Given the description of an element on the screen output the (x, y) to click on. 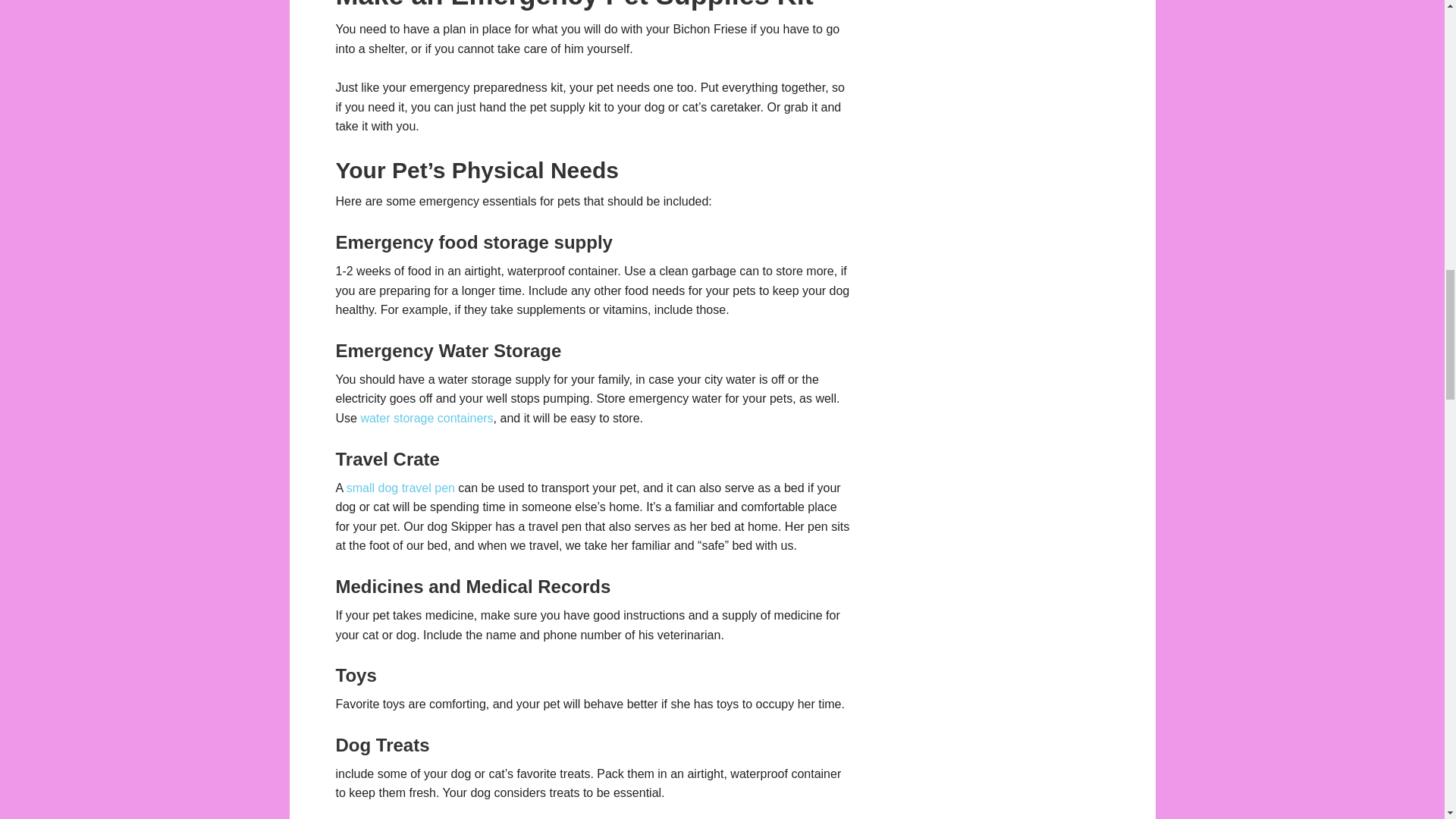
water storage containers (426, 418)
small dog travel pen (400, 487)
